Given the description of an element on the screen output the (x, y) to click on. 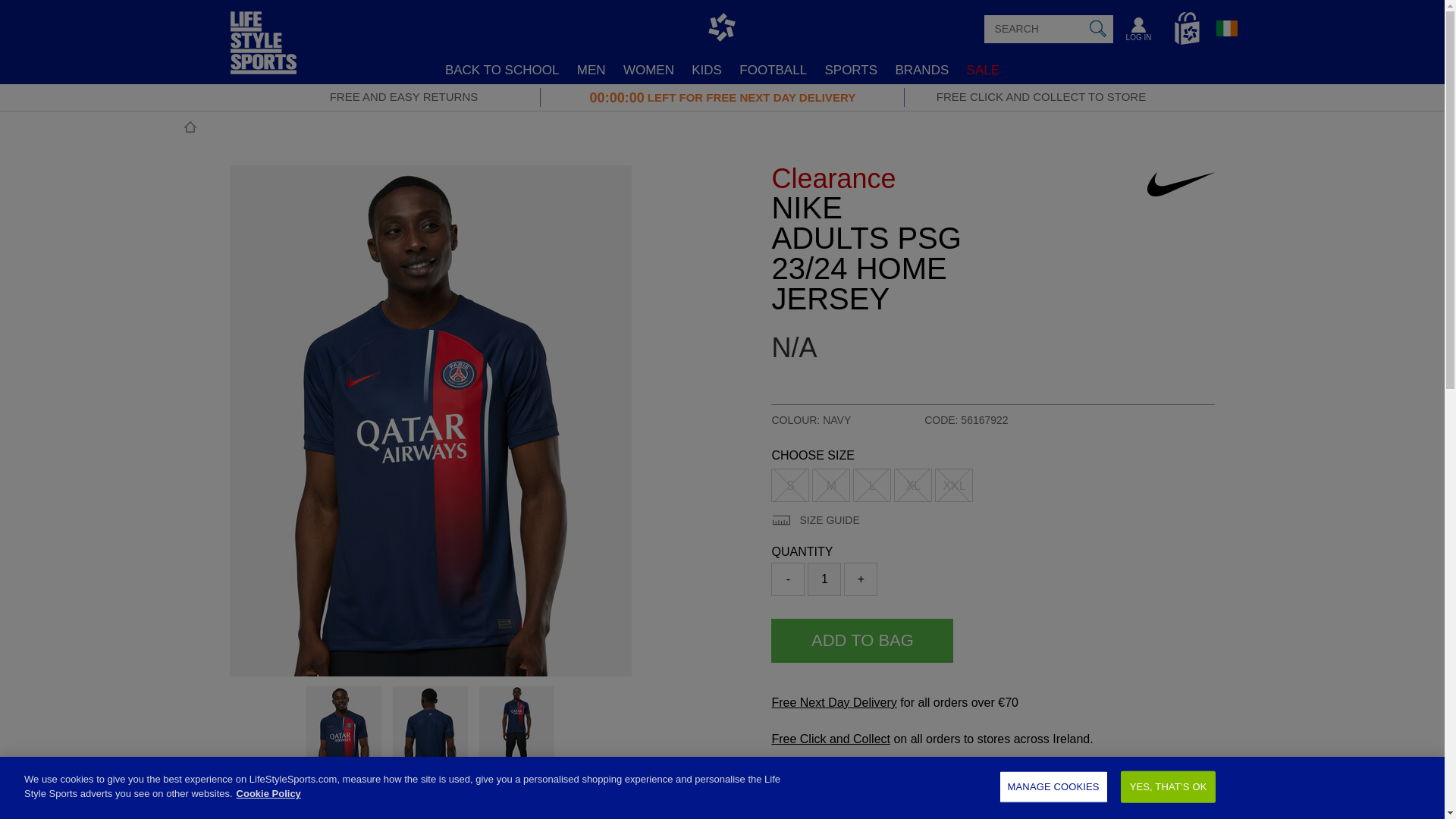
Life Style Sports Home (263, 61)
Size S is not available for this combination (790, 485)
LOG IN (1138, 32)
User: Log in (1138, 32)
View Bag (1187, 28)
Size L is not available for this combination (872, 485)
Life Style Sports (263, 61)
1 (824, 579)
View Size Guide (815, 520)
Life Style Sports Home (720, 28)
MEN (590, 70)
BACK TO SCHOOL (502, 70)
SEARCH (1098, 28)
Size XL is not available for this combination (912, 485)
